Given the description of an element on the screen output the (x, y) to click on. 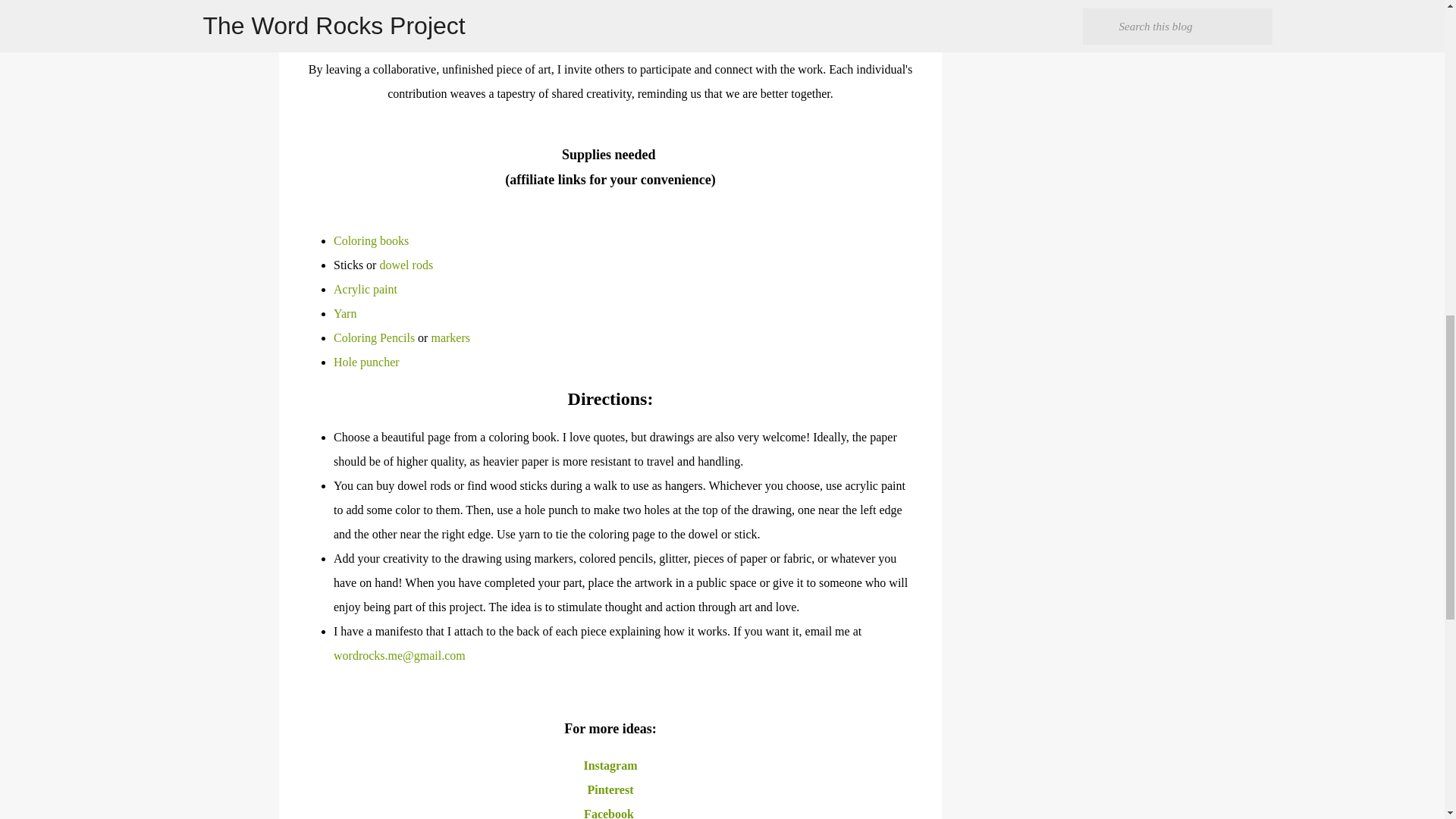
Coloring Pencils (373, 337)
Acrylic paint (365, 288)
dowel rods (405, 264)
Coloring books (371, 240)
markers (450, 337)
Yarn (344, 313)
Instagram (610, 765)
Pinterest (609, 789)
Hole puncher (365, 361)
Facebook  (610, 813)
